Given the description of an element on the screen output the (x, y) to click on. 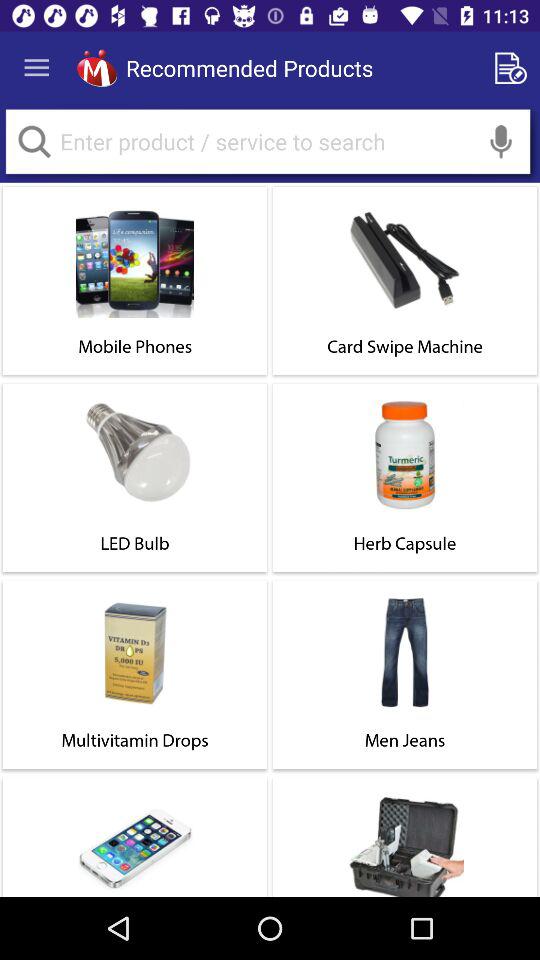
voice search (501, 141)
